Given the description of an element on the screen output the (x, y) to click on. 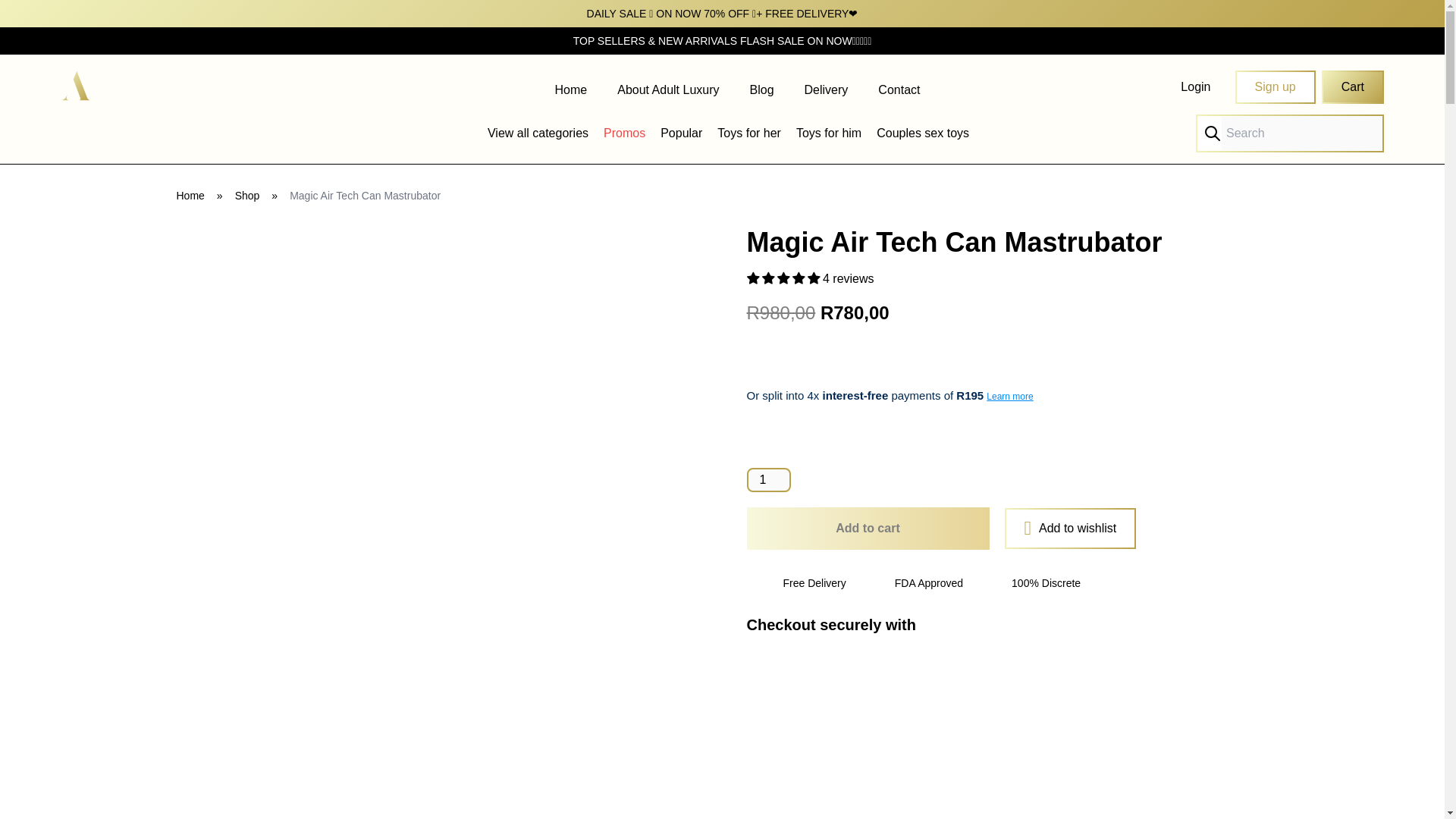
1 (767, 479)
Toys for her (748, 133)
Promos (624, 133)
Blog (761, 90)
Home (571, 90)
Couples sex toys (922, 133)
Toys for him (828, 133)
Popular (681, 133)
Cart (1353, 87)
Delivery (826, 90)
Sign up (1274, 87)
About Adult Luxury (668, 90)
Login (1194, 87)
Contact (898, 90)
View all categories (537, 133)
